Given the description of an element on the screen output the (x, y) to click on. 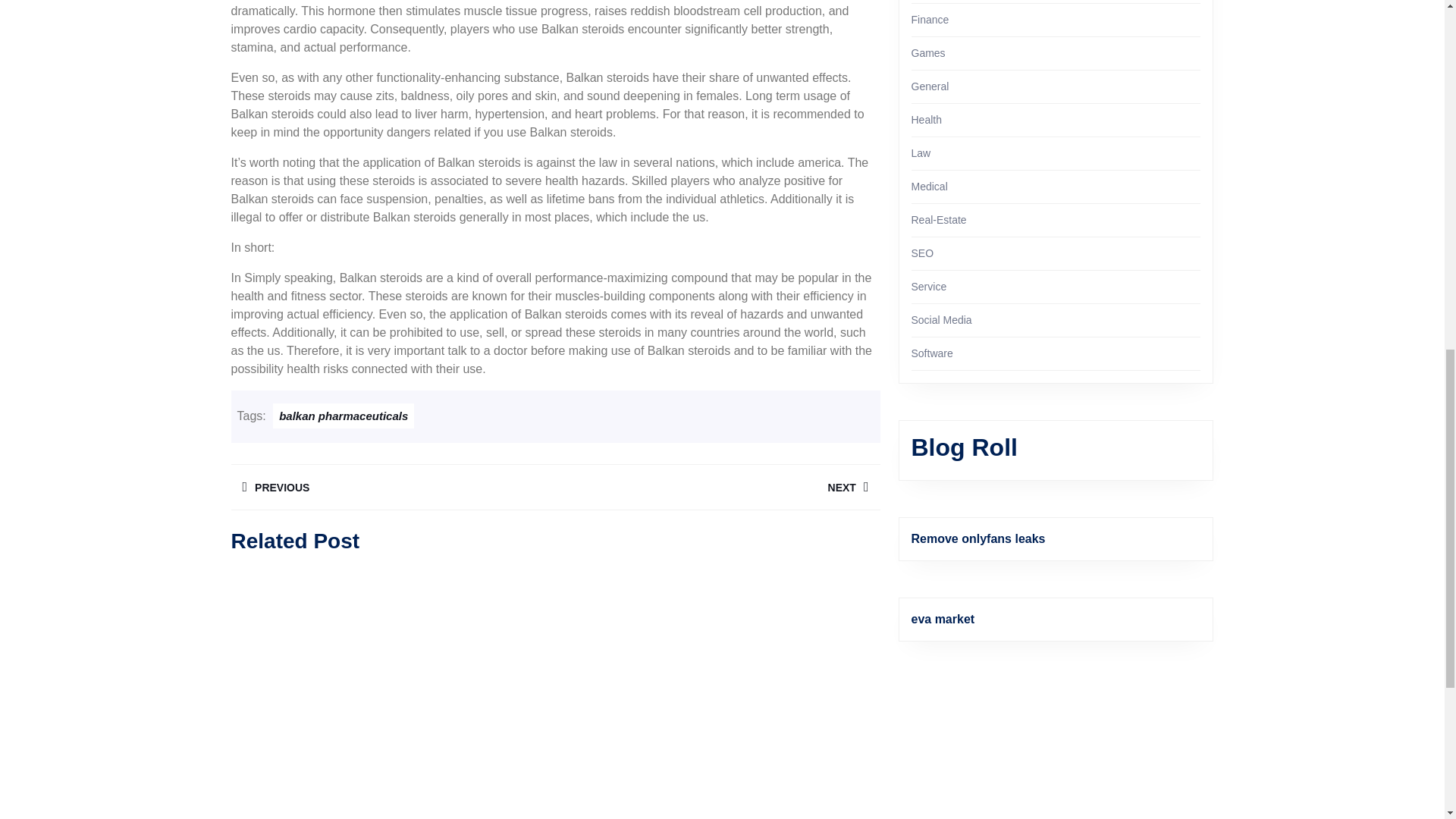
balkan pharmaceuticals (343, 415)
